Given the description of an element on the screen output the (x, y) to click on. 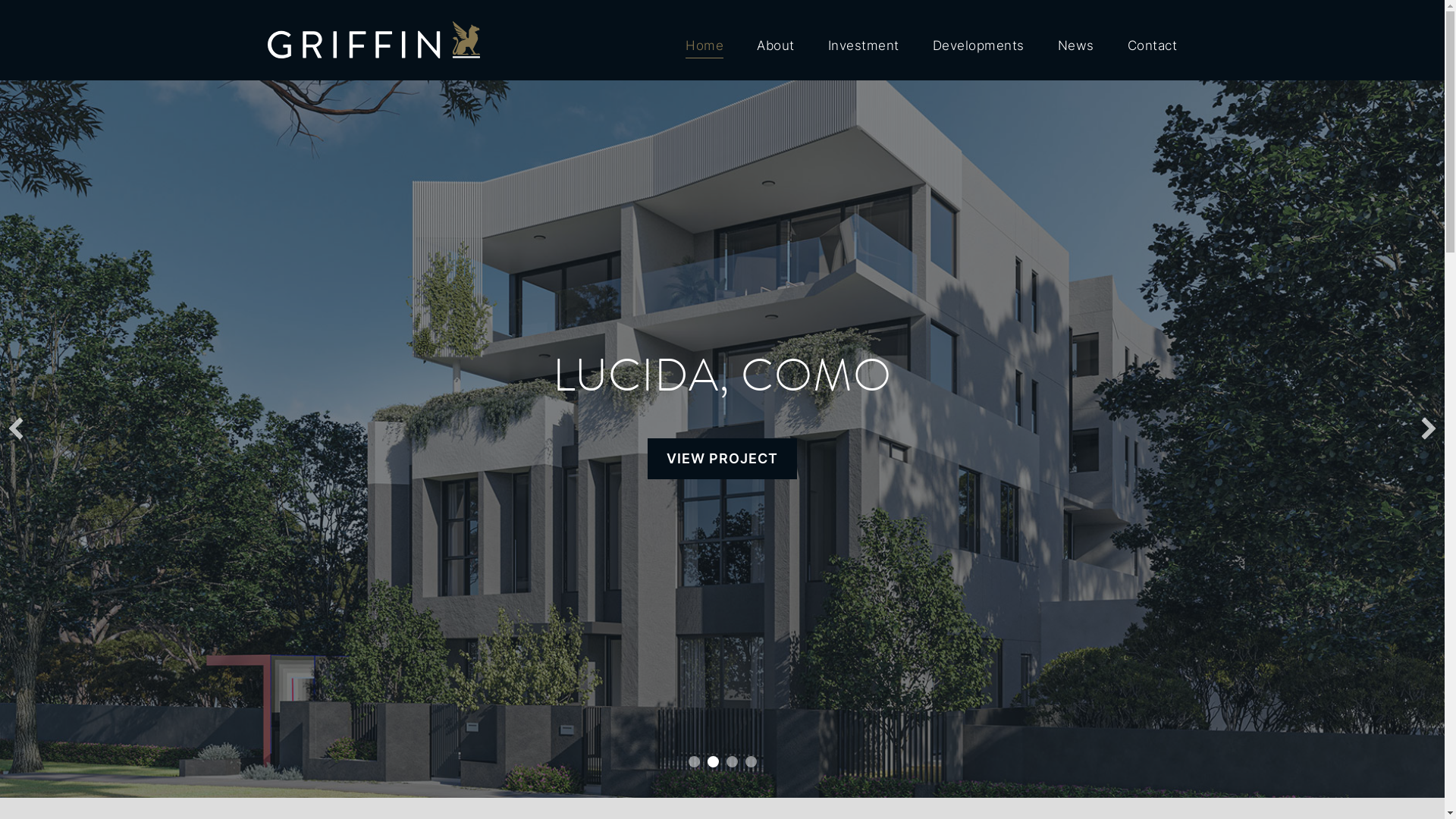
Developments Element type: text (978, 39)
2 Element type: text (712, 761)
1 Element type: text (693, 761)
Home Element type: text (704, 39)
About Element type: text (775, 39)
3 Element type: text (731, 761)
Investment Element type: text (863, 39)
VIEW PROJECT Element type: text (730, 458)
News Element type: text (1075, 39)
Contact Element type: text (1152, 39)
4 Element type: text (750, 761)
